Given the description of an element on the screen output the (x, y) to click on. 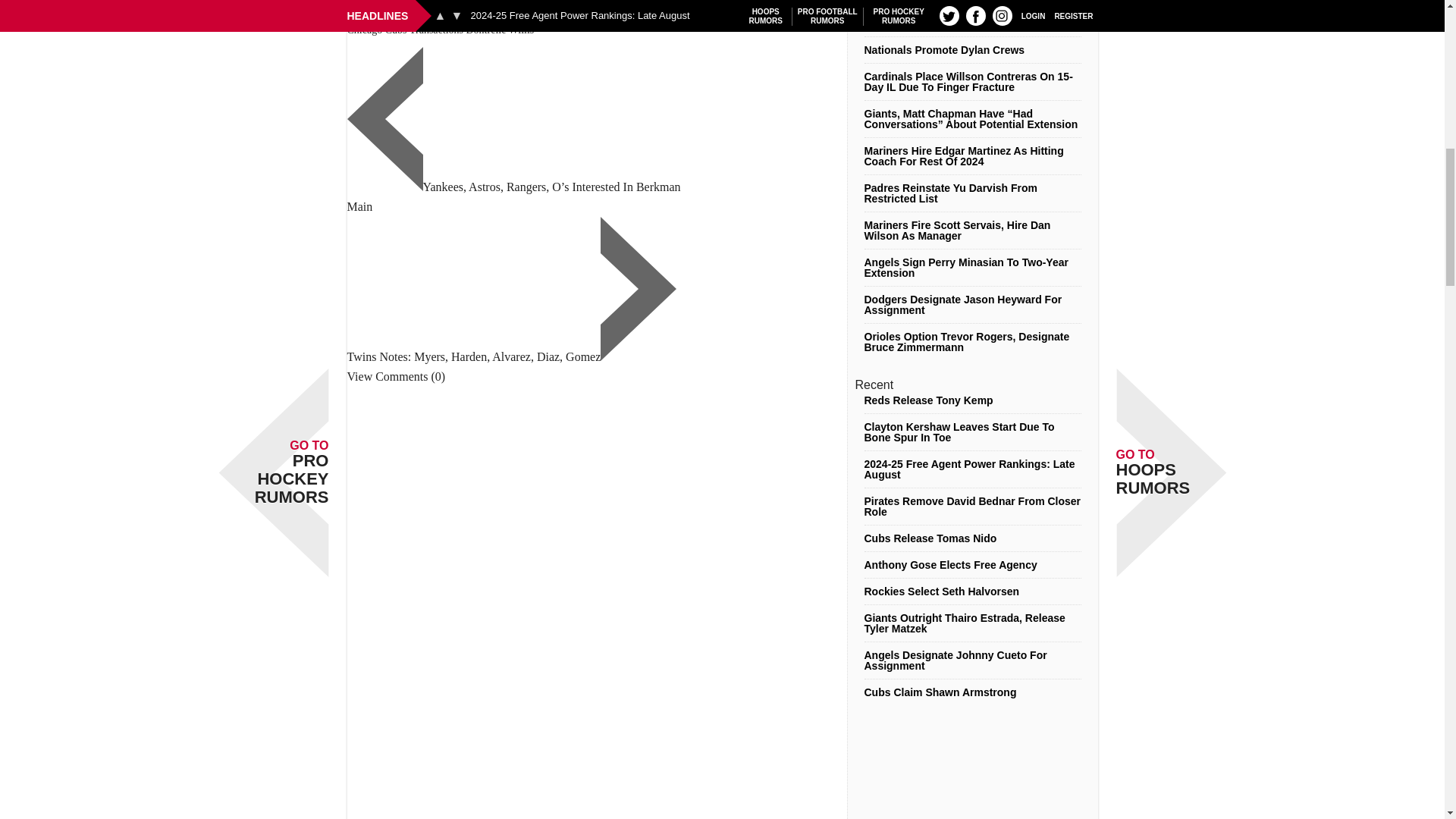
Share 'Cubs Sign Dontrelle Willis' on Facebook (360, 11)
Retweet 'Cubs Sign Dontrelle Willis' on Twitter (412, 11)
Send Cubs Sign Dontrelle Willis with an email (492, 11)
